Given the description of an element on the screen output the (x, y) to click on. 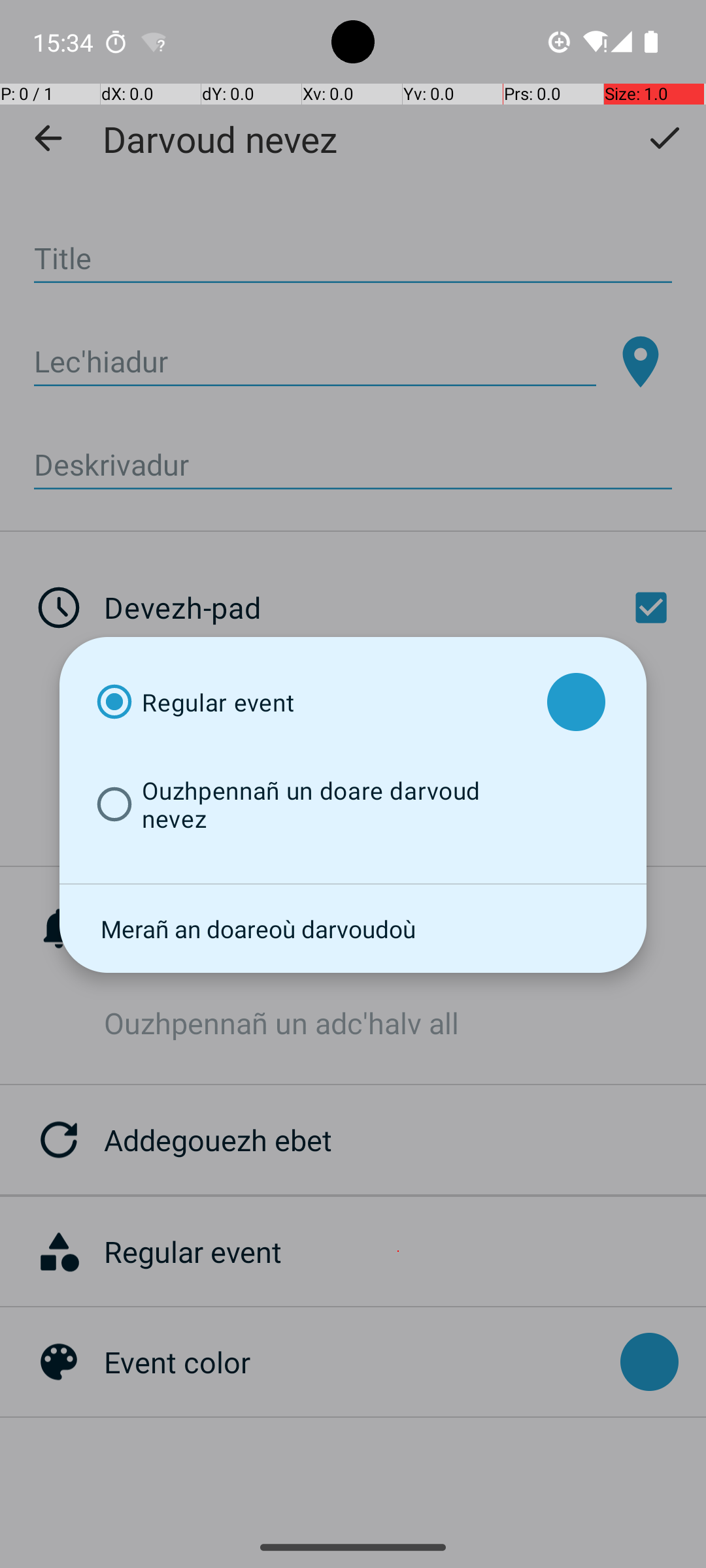
Merañ an doareoù darvoudoù Element type: android.widget.TextView (352, 928)
Ouzhpennañ un doare darvoud nevez Element type: android.widget.RadioButton (309, 804)
